Given the description of an element on the screen output the (x, y) to click on. 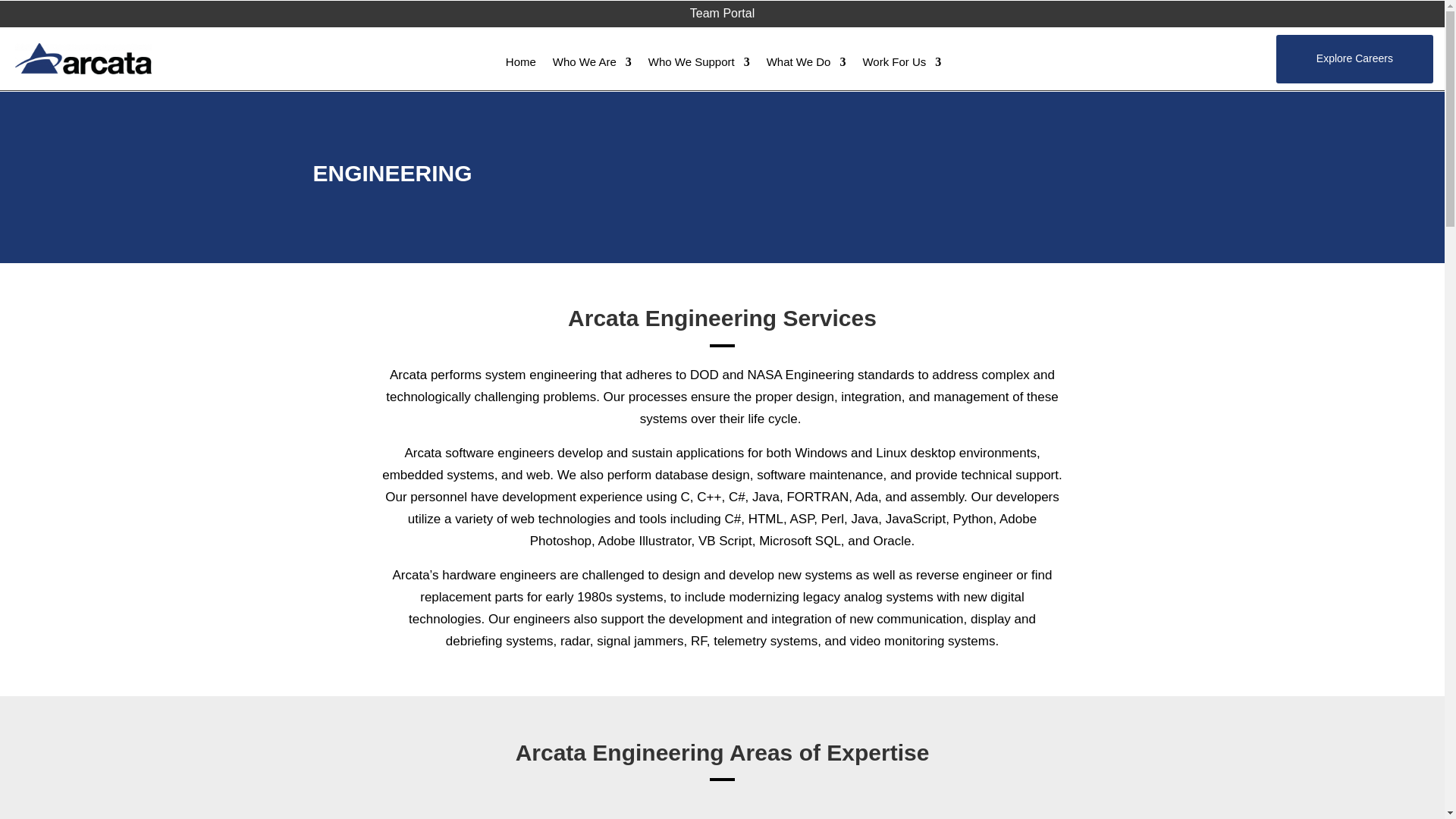
Who We Support (698, 64)
Who We Are (592, 64)
Work For Us (900, 64)
What We Do (806, 64)
Home (520, 64)
arcata-associates-logo (82, 58)
Team Portal (722, 12)
